Given the description of an element on the screen output the (x, y) to click on. 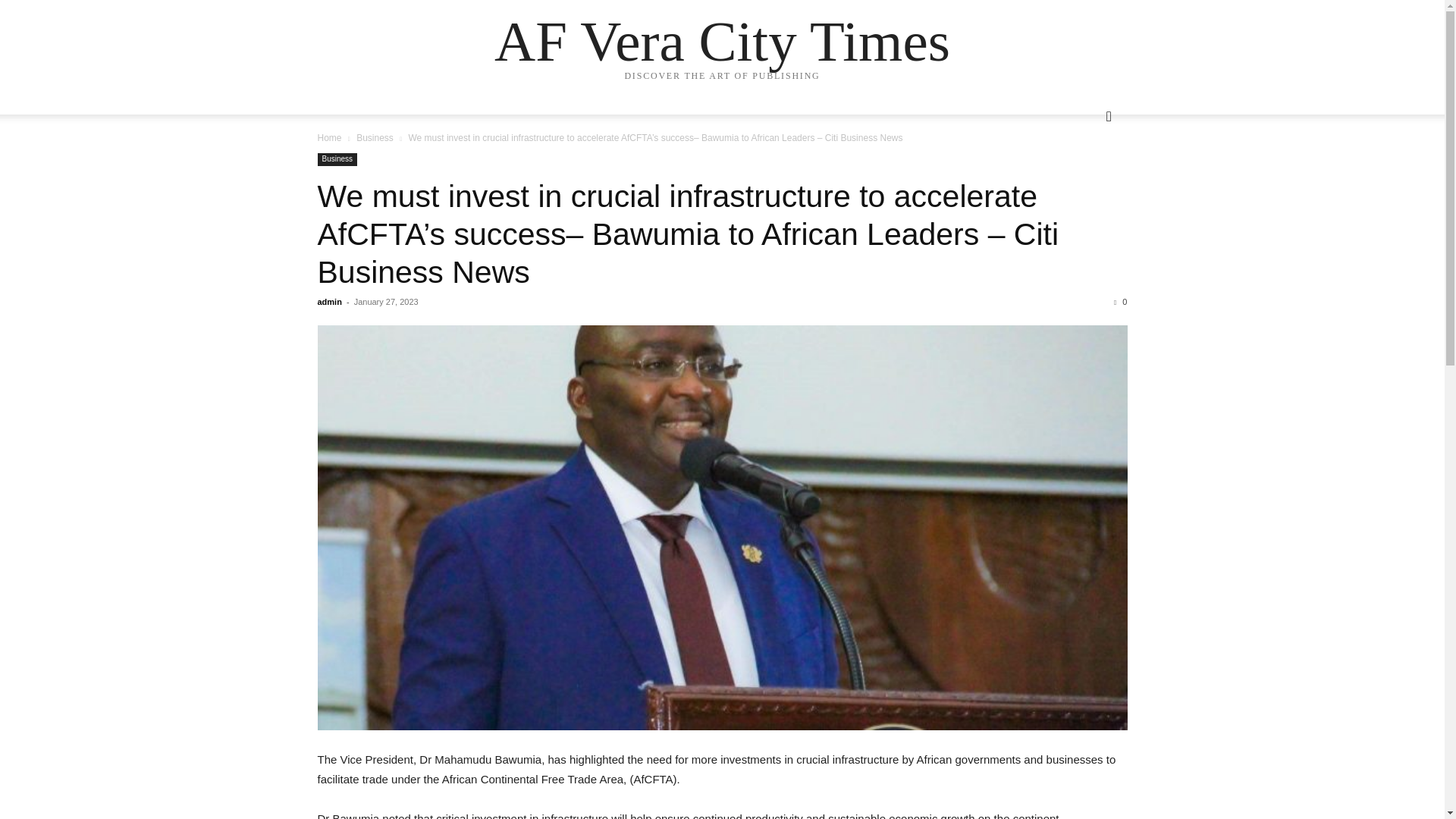
View all posts in Business (374, 137)
Home (328, 137)
0 (1119, 301)
Business (374, 137)
Search (1085, 177)
admin (328, 301)
Business (336, 159)
AF Vera City Times (722, 41)
